Given the description of an element on the screen output the (x, y) to click on. 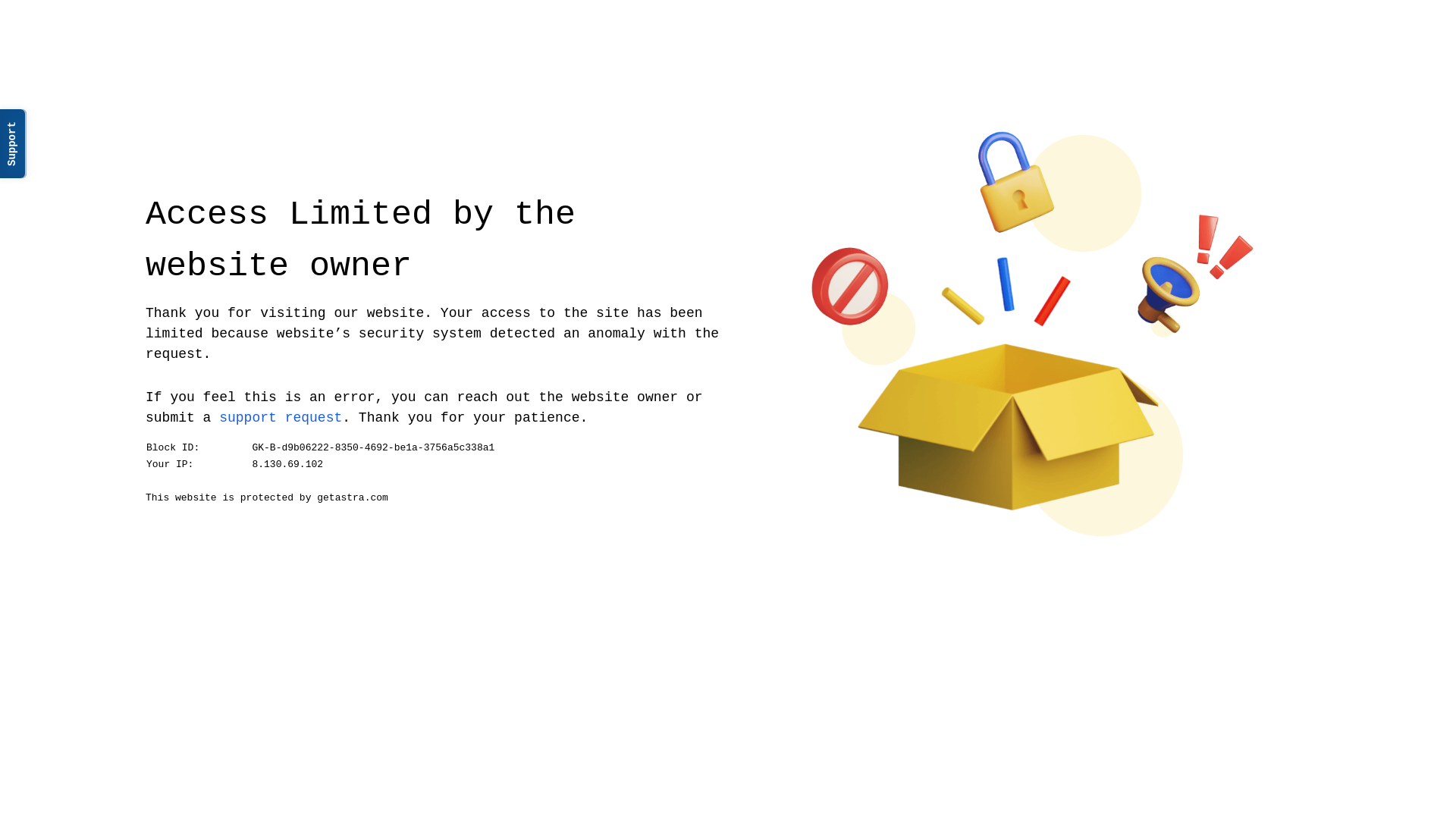
support request (280, 417)
Support (33, 122)
